Given the description of an element on the screen output the (x, y) to click on. 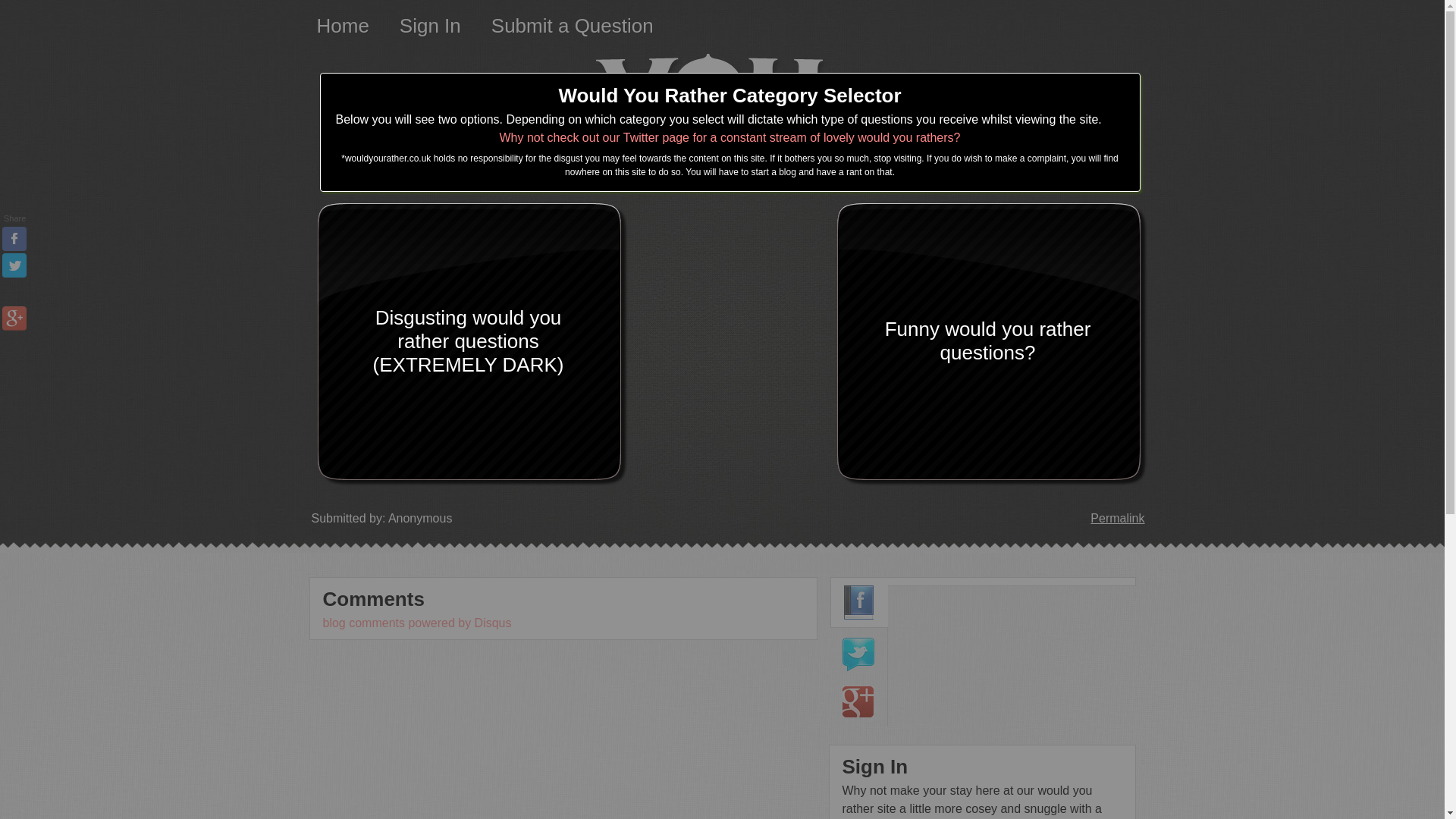
Would You Rather (721, 109)
Funny would you rather questions? (981, 341)
Sign In (429, 25)
Submit a Question (572, 25)
Permalink (1117, 517)
Home (343, 25)
blog comments powered by Disqus (417, 622)
